Given the description of an element on the screen output the (x, y) to click on. 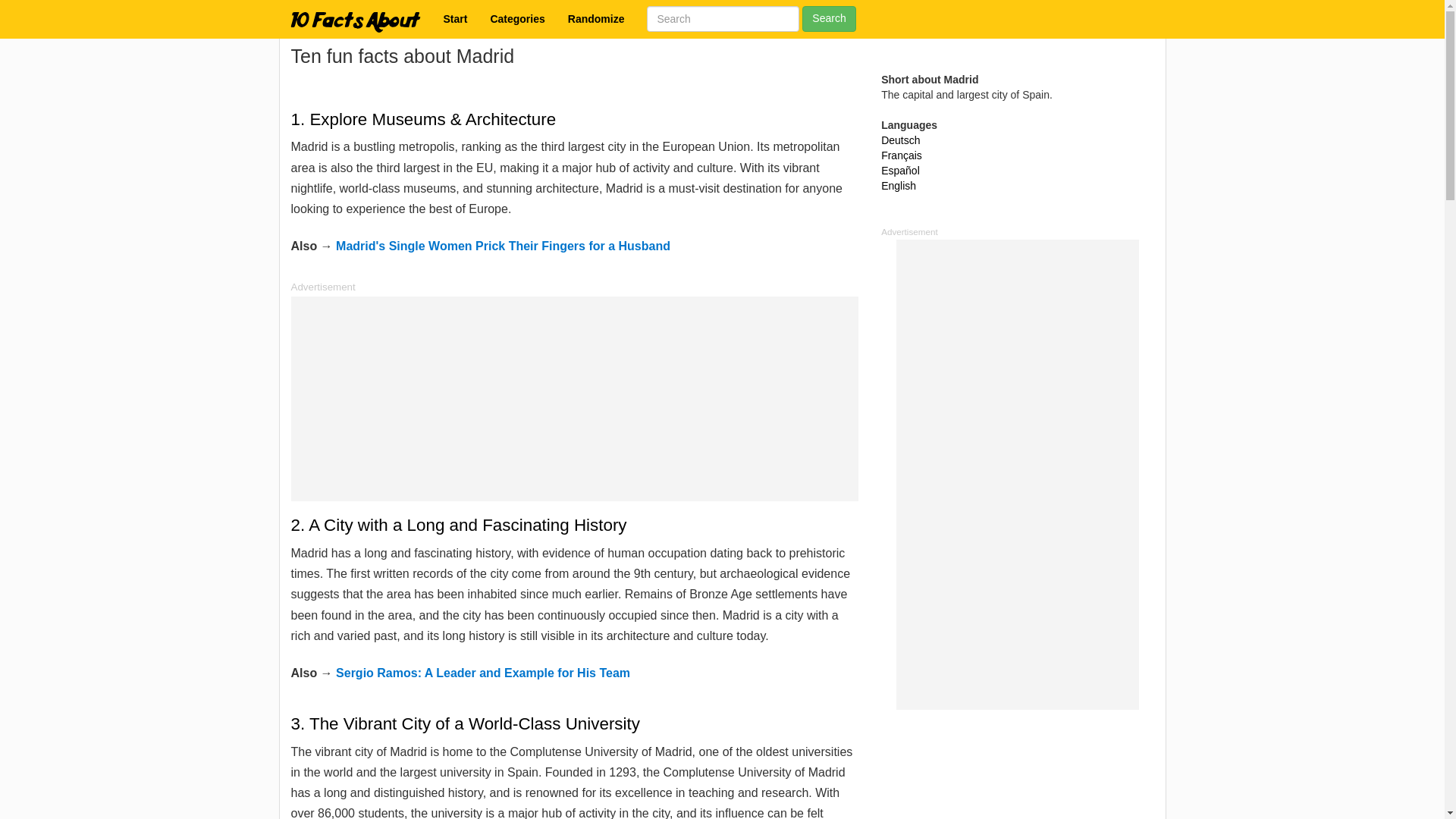
Search (829, 18)
English (897, 185)
Deutsch (900, 140)
Madrid's Single Women Prick Their Fingers for a Husband (502, 245)
Categories (517, 18)
Sergio Ramos: A Leader and Example for His Team (483, 672)
Randomize fact (596, 18)
Randomize (596, 18)
10 facts about (455, 18)
Facts in categories (517, 18)
